Given the description of an element on the screen output the (x, y) to click on. 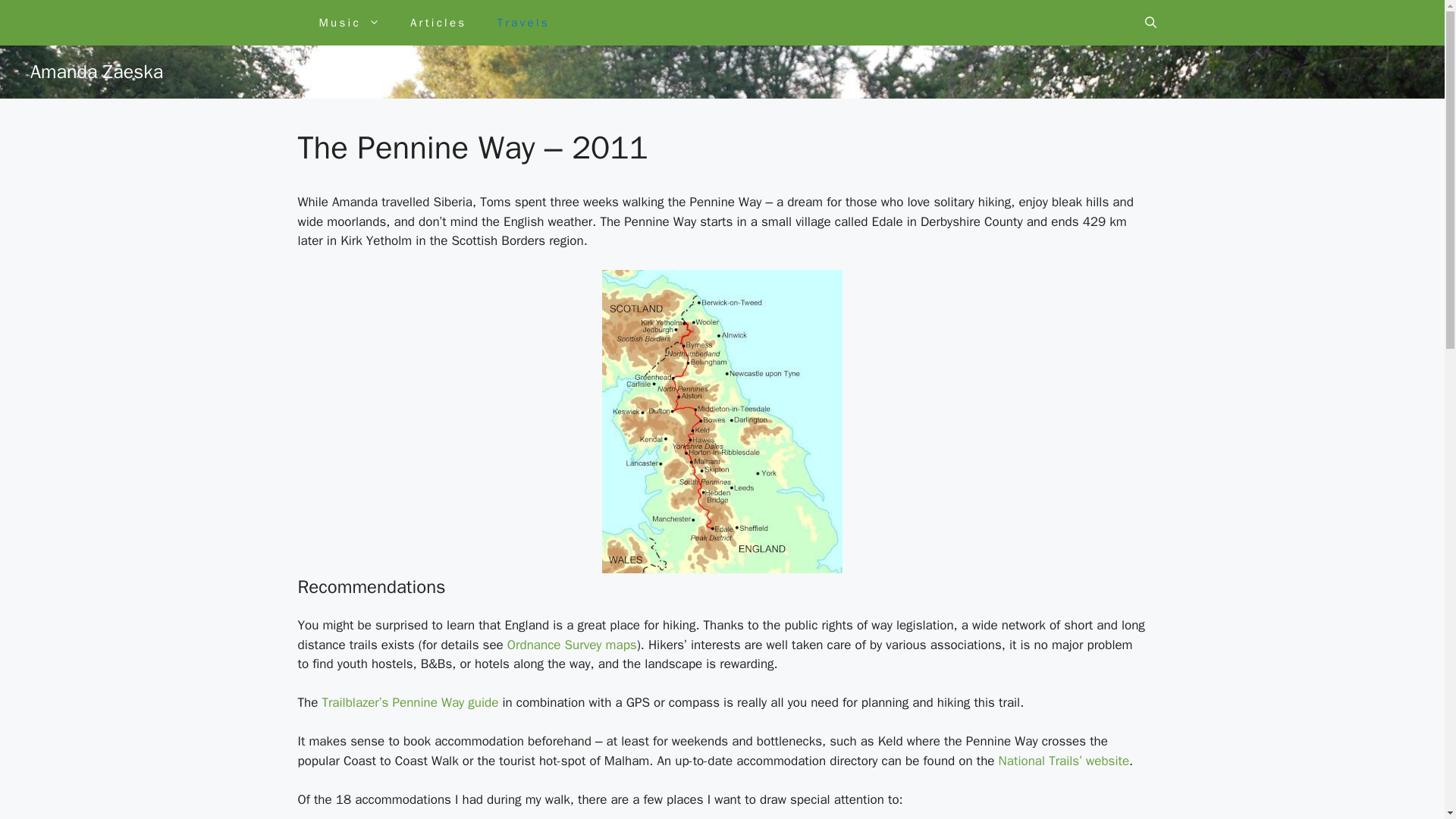
Travels (522, 22)
Amanda Zaeska (96, 71)
Music (348, 22)
Ordnance Survey maps (571, 644)
Articles (437, 22)
